Given the description of an element on the screen output the (x, y) to click on. 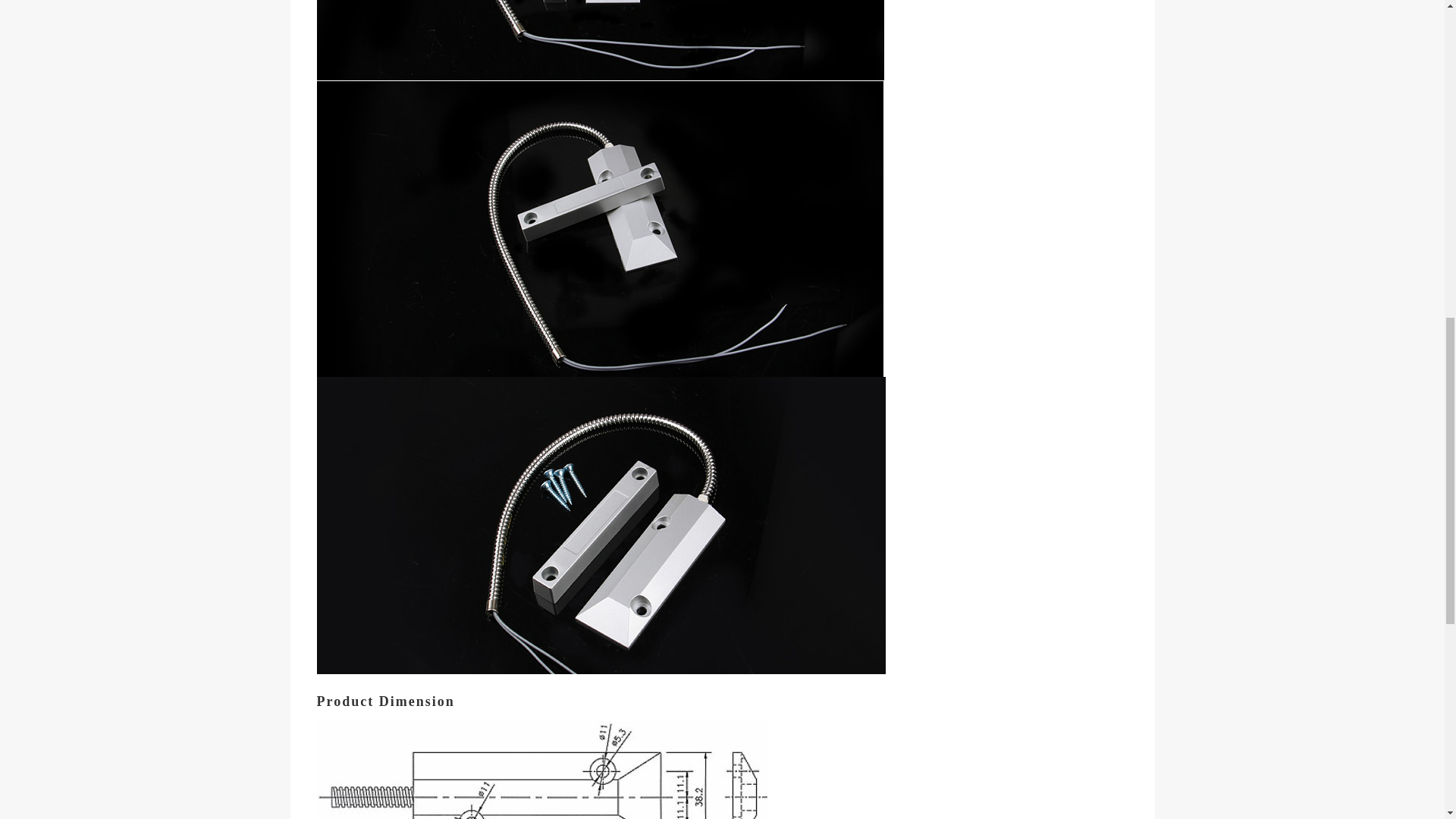
RZ-55Z Metal Magnetic Contact (600, 40)
